Given the description of an element on the screen output the (x, y) to click on. 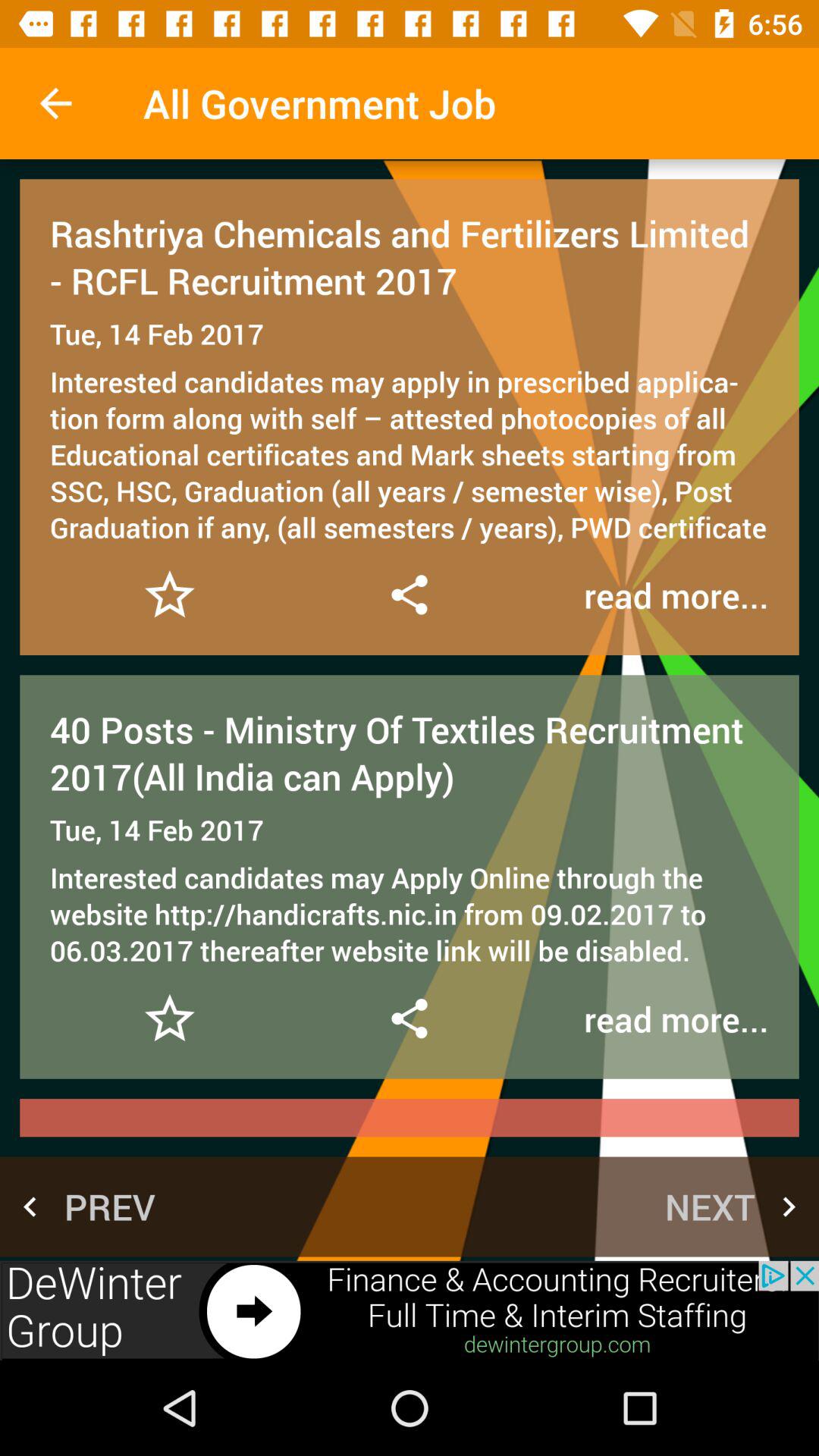
select to save job (169, 595)
